Given the description of an element on the screen output the (x, y) to click on. 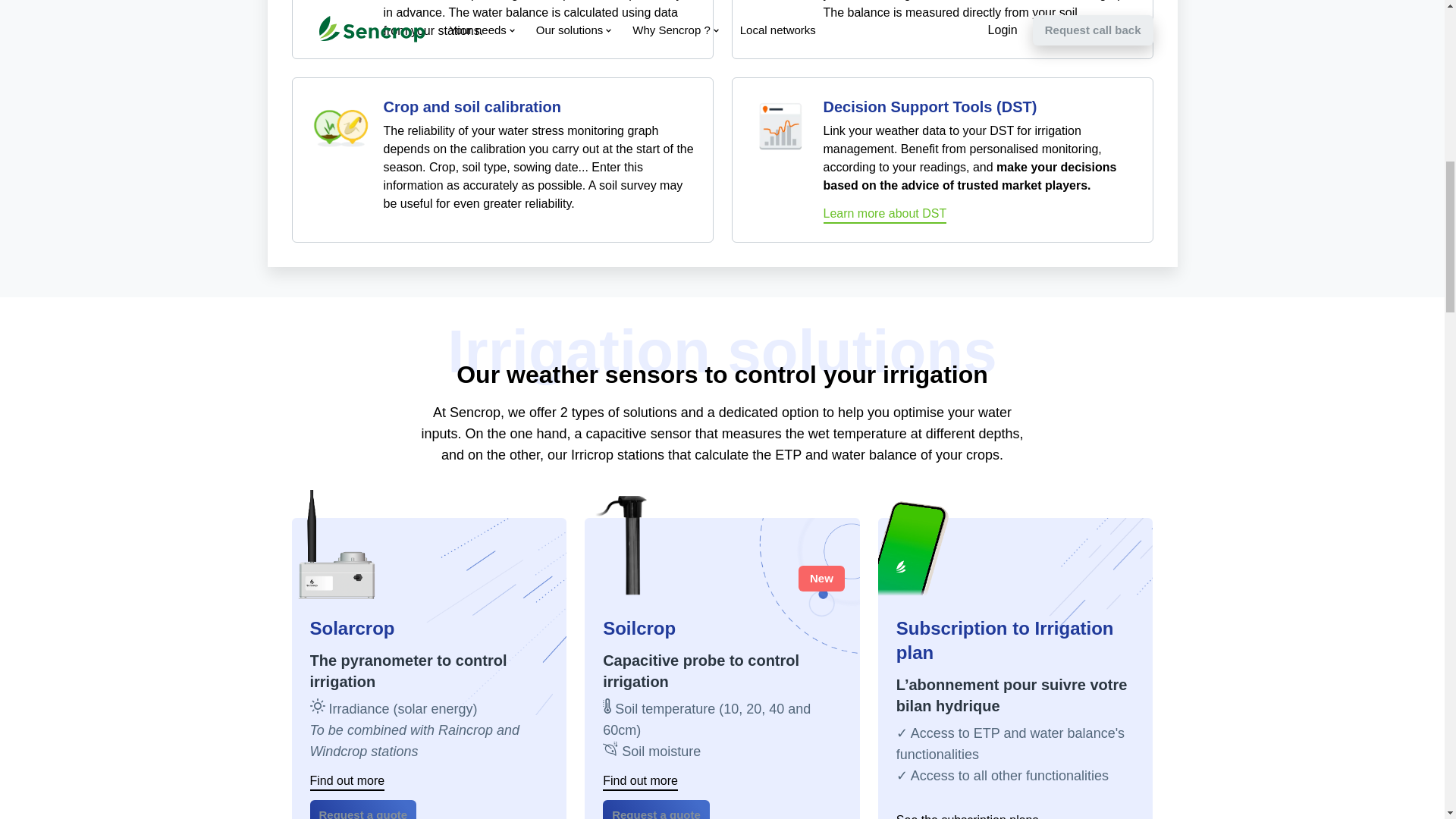
Find out more (640, 782)
Request a quote (656, 809)
Learn more about DST (885, 215)
Find out more (346, 782)
Request a quote (362, 809)
See the subscription plans (967, 816)
